Given the description of an element on the screen output the (x, y) to click on. 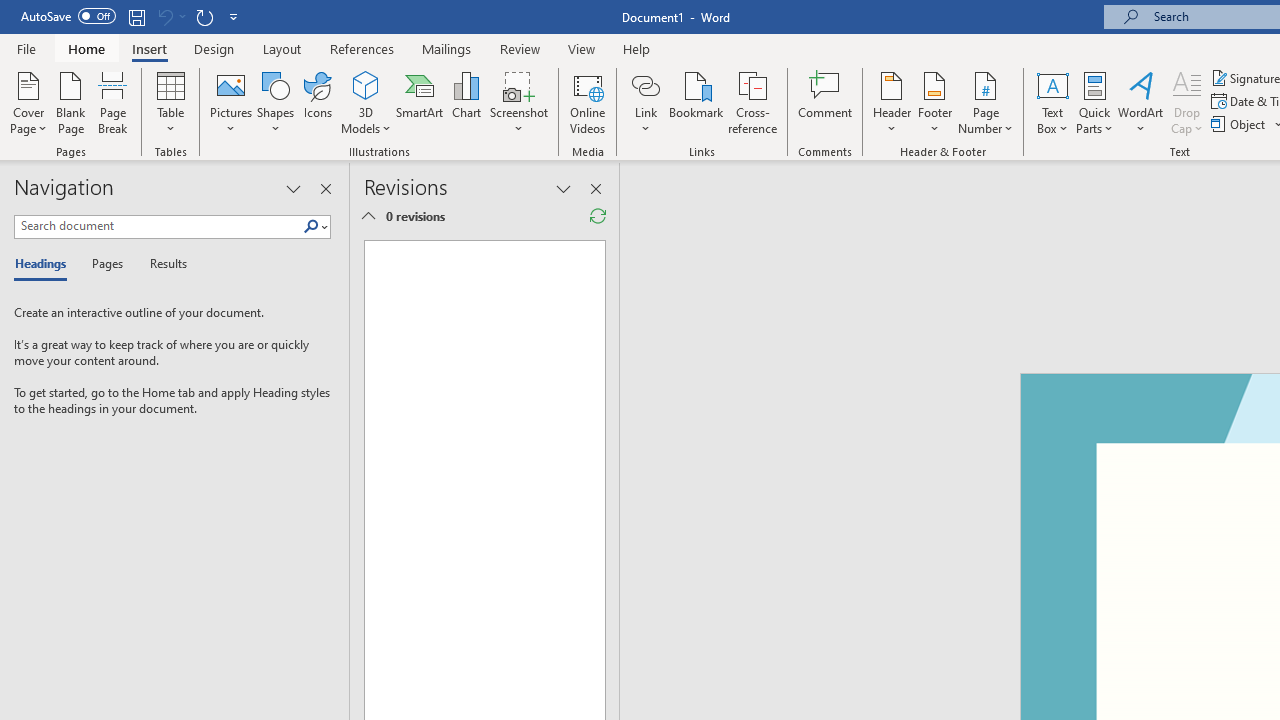
Repeat Doc Close (204, 15)
Chart... (466, 102)
Table (170, 102)
Blank Page (70, 102)
Can't Undo (170, 15)
SmartArt... (419, 102)
WordArt (1141, 102)
